Given the description of an element on the screen output the (x, y) to click on. 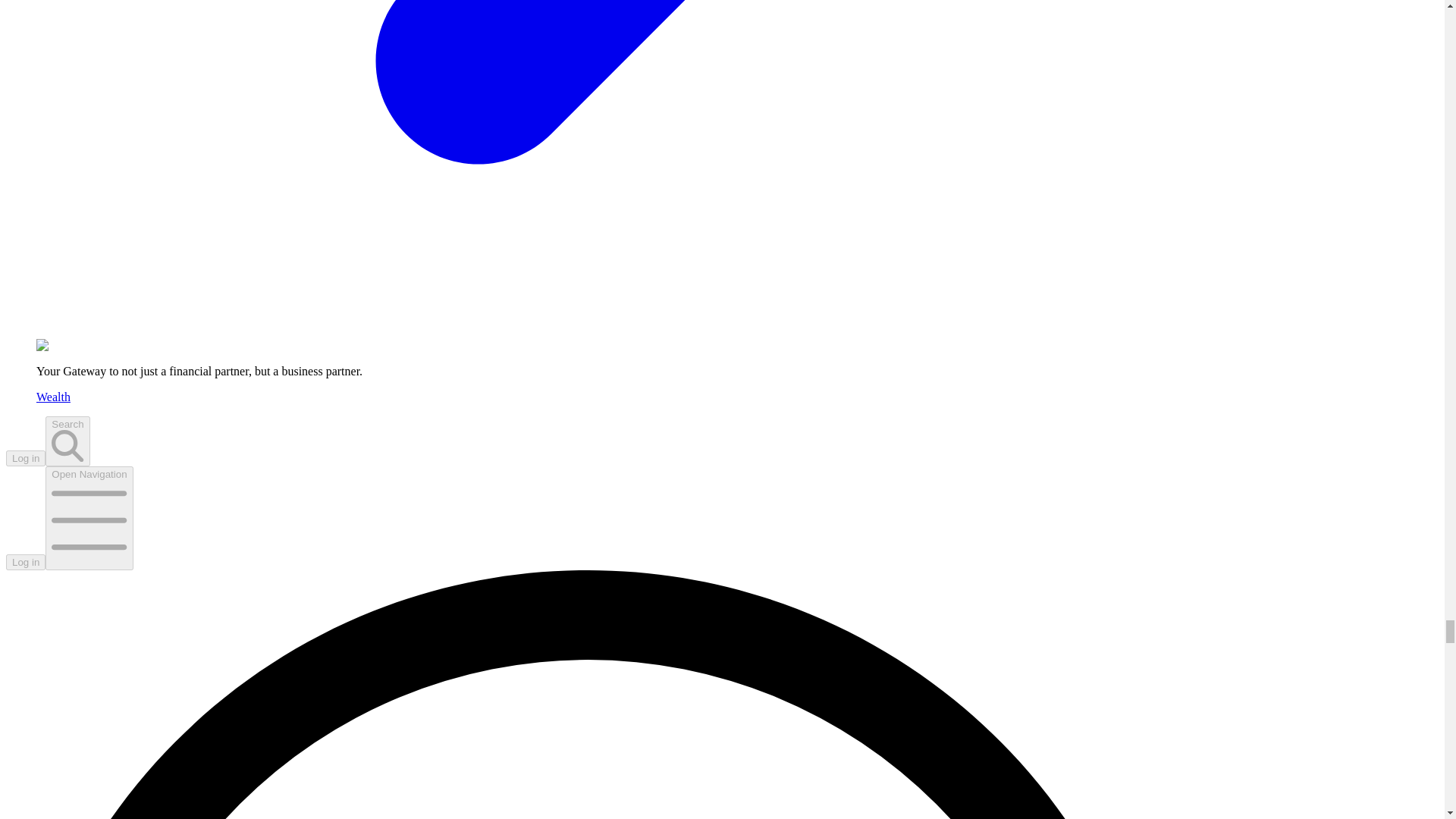
Log in (25, 458)
Log in (25, 562)
Wealth (52, 396)
